Given the description of an element on the screen output the (x, y) to click on. 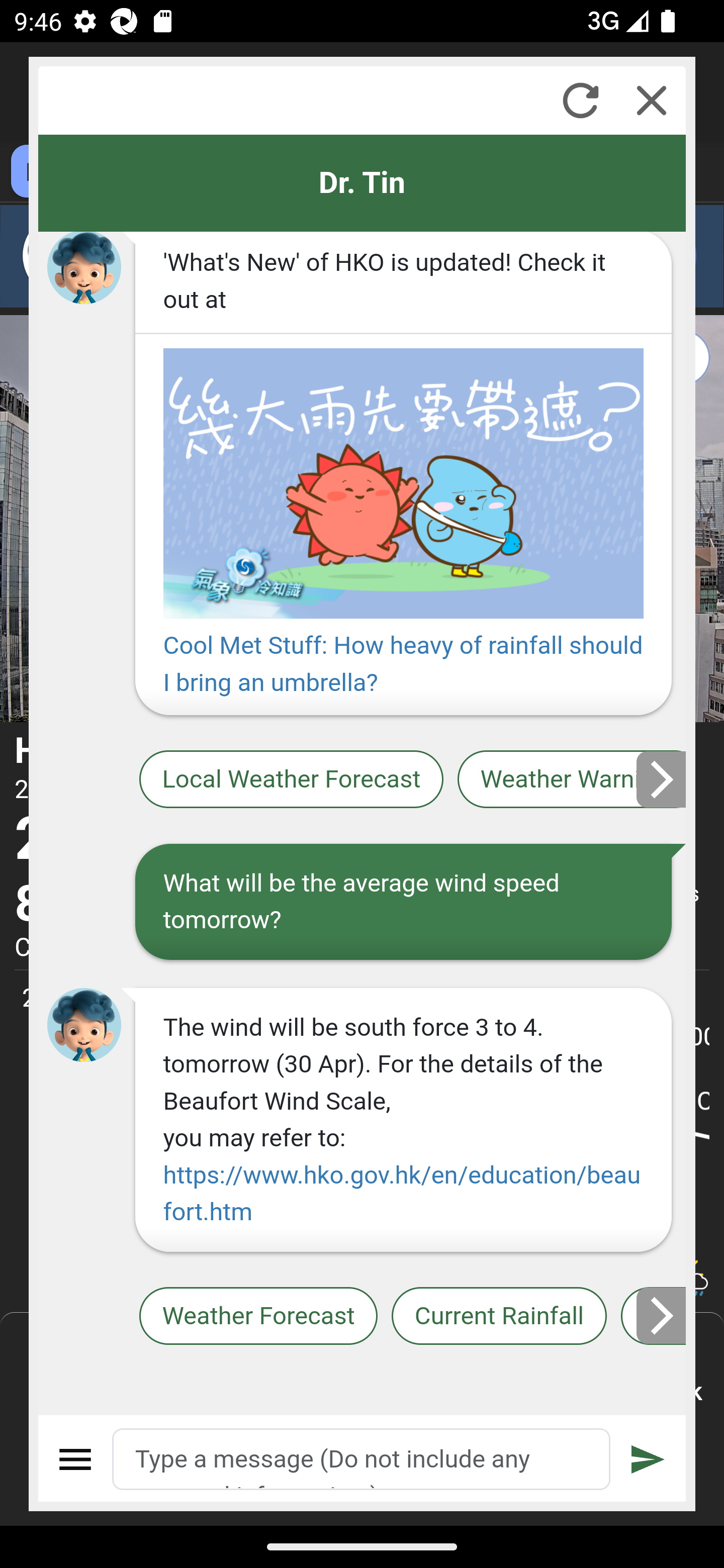
Refresh (580, 100)
Close (651, 100)
Local Weather Forecast (291, 780)
Weather Warnings (571, 780)
Next slide (661, 779)
https://www.hko.gov.hk/en/education/beaufort.htm (401, 1193)
Weather Forecast (258, 1315)
Current Rainfall (499, 1315)
Next slide (661, 1316)
Menu (75, 1458)
Submit (648, 1458)
